Given the description of an element on the screen output the (x, y) to click on. 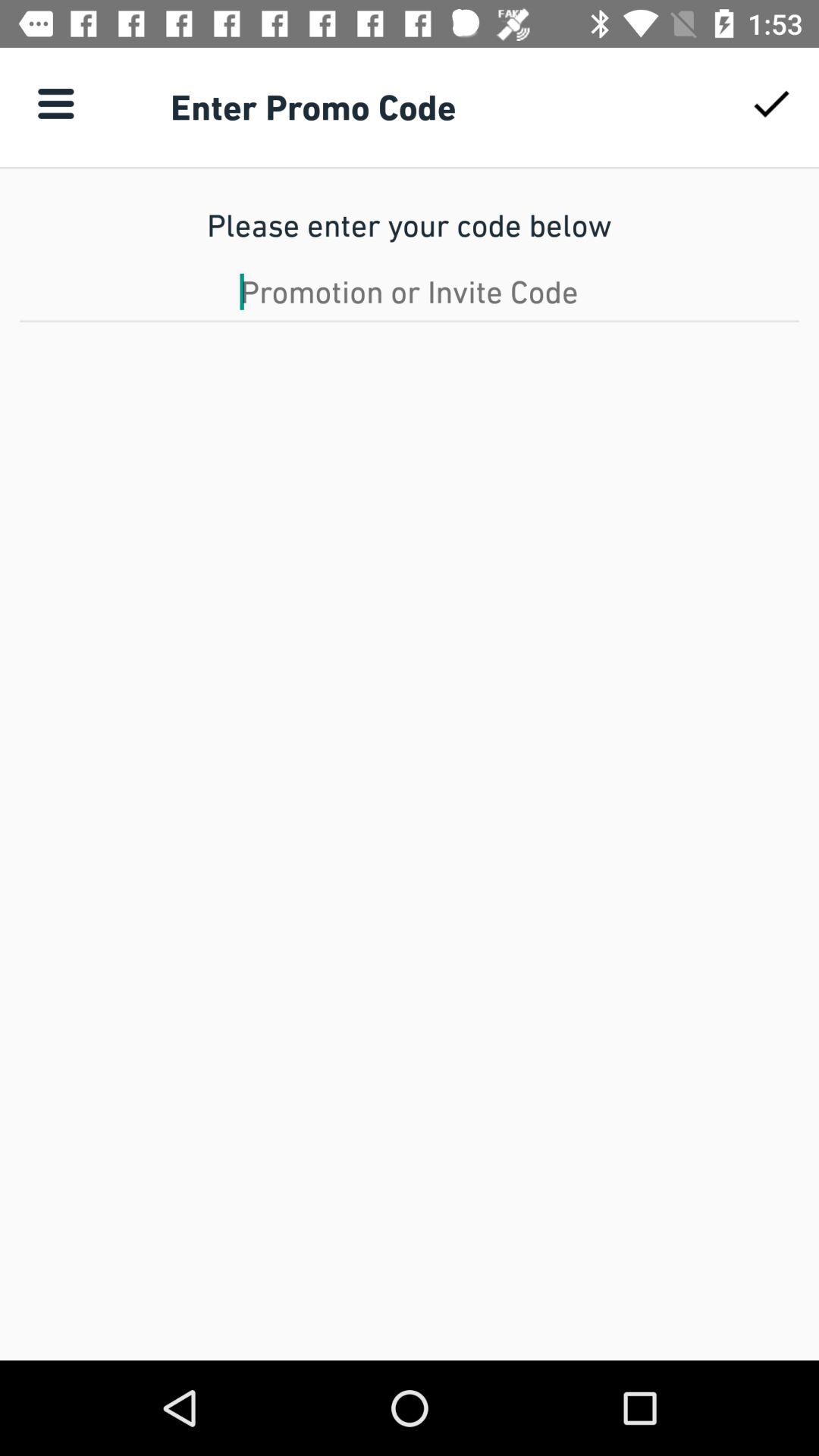
tap the item next to enter promo code icon (55, 103)
